Given the description of an element on the screen output the (x, y) to click on. 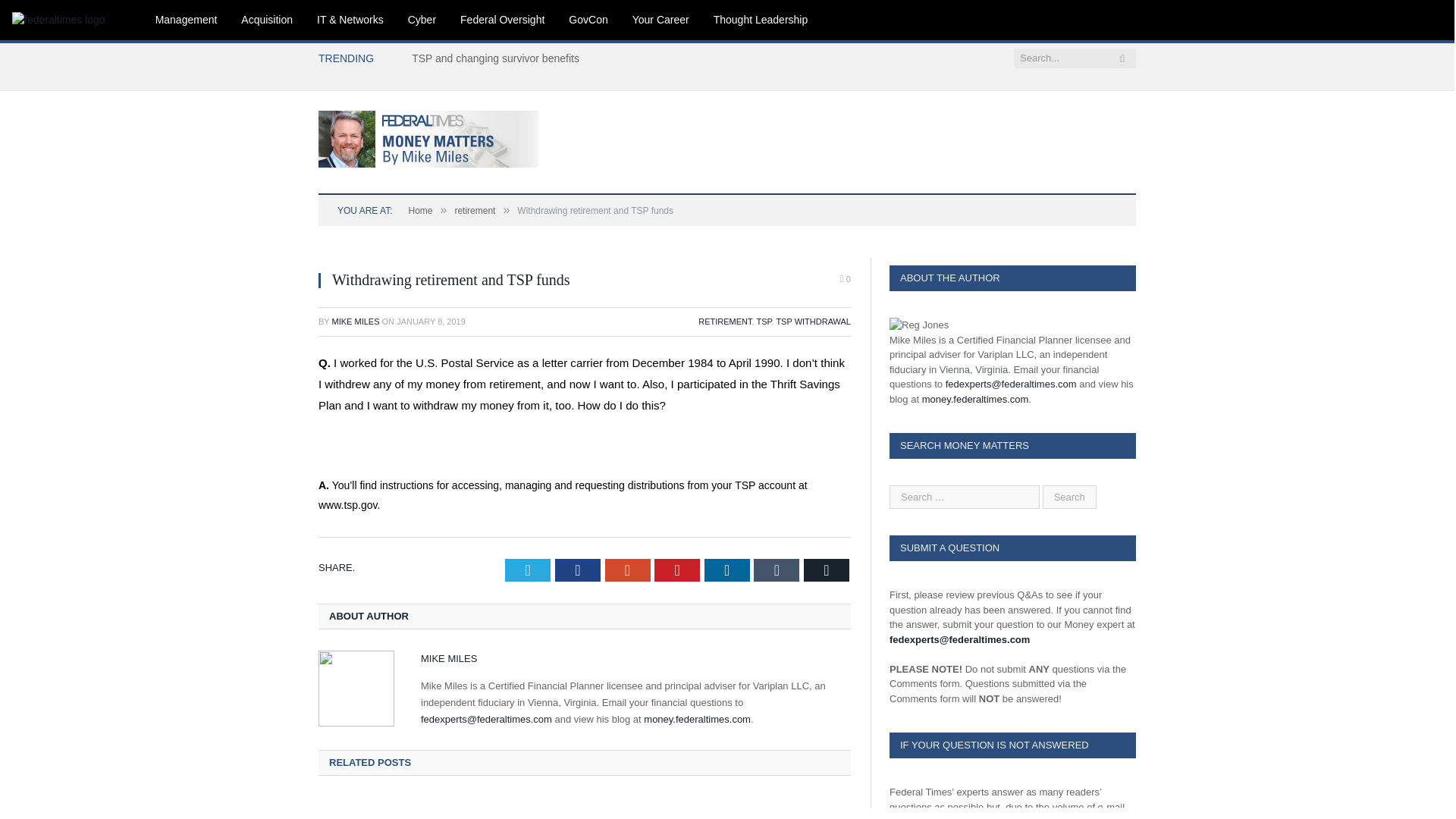
Pinterest (676, 569)
Email (825, 569)
Tweet It (527, 569)
TSP and changing survivor benefits (499, 58)
www.tsp.gov (347, 504)
0 (845, 278)
Tumblr (776, 569)
retirement (474, 210)
LinkedIn (726, 569)
Share on Facebook (576, 569)
TSP and changing survivor benefits (499, 58)
Posts by Mike Miles (355, 320)
Search (1069, 496)
2019-01-08 (430, 320)
Your Career (660, 19)
